Given the description of an element on the screen output the (x, y) to click on. 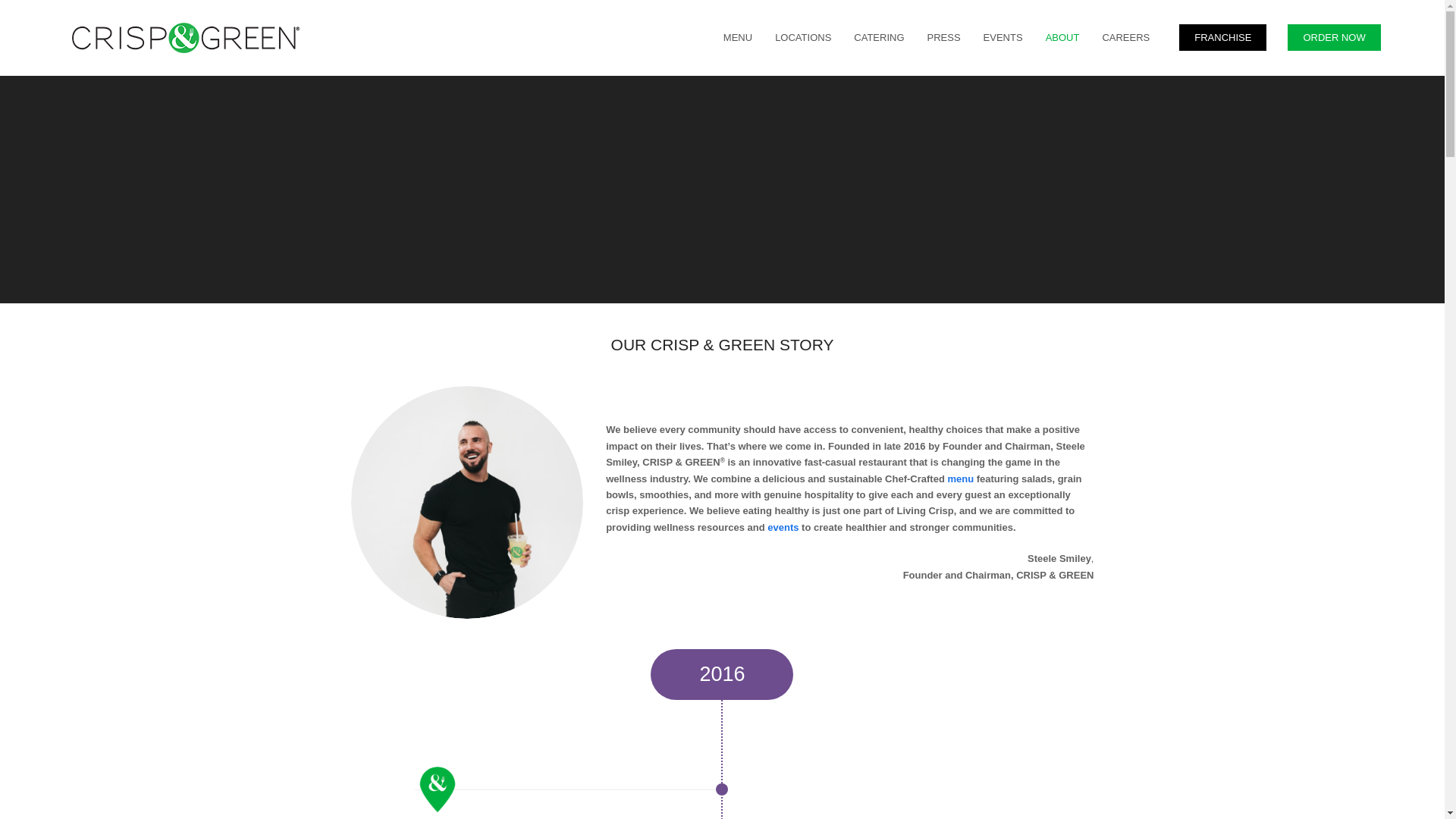
EVENTS (1002, 37)
MENU (736, 37)
Menu (736, 37)
PRESS (943, 37)
FRANCHISE (1214, 37)
menu (960, 478)
Press (943, 37)
events (782, 527)
Events (1002, 37)
CAREERS (1125, 37)
